Given the description of an element on the screen output the (x, y) to click on. 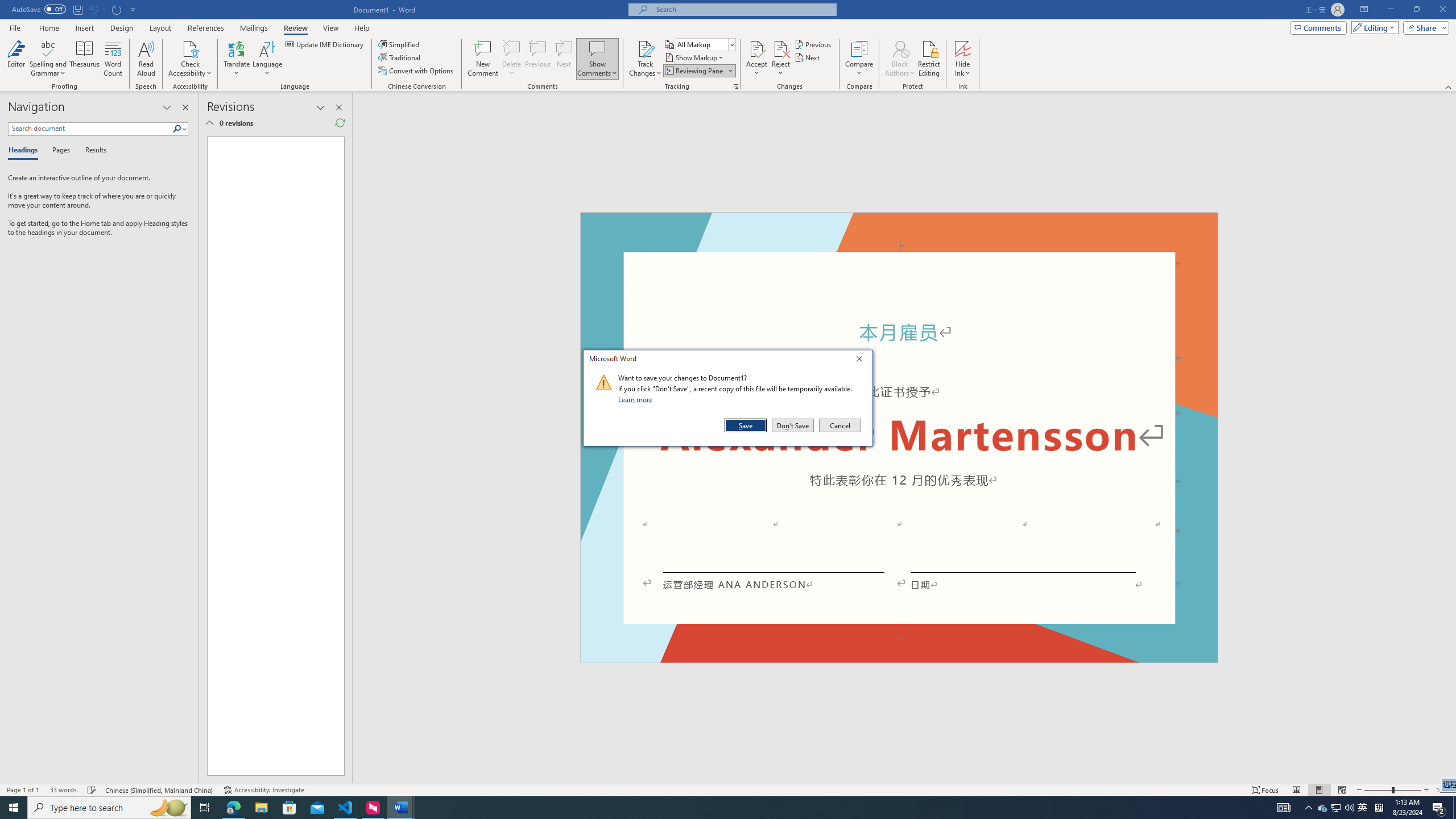
Change Tracking Options... (735, 85)
Zoom 100% (1443, 790)
Reject (780, 58)
Traditional (400, 56)
Reject and Move to Next (780, 48)
Page 1 content (271, 455)
